Given the description of an element on the screen output the (x, y) to click on. 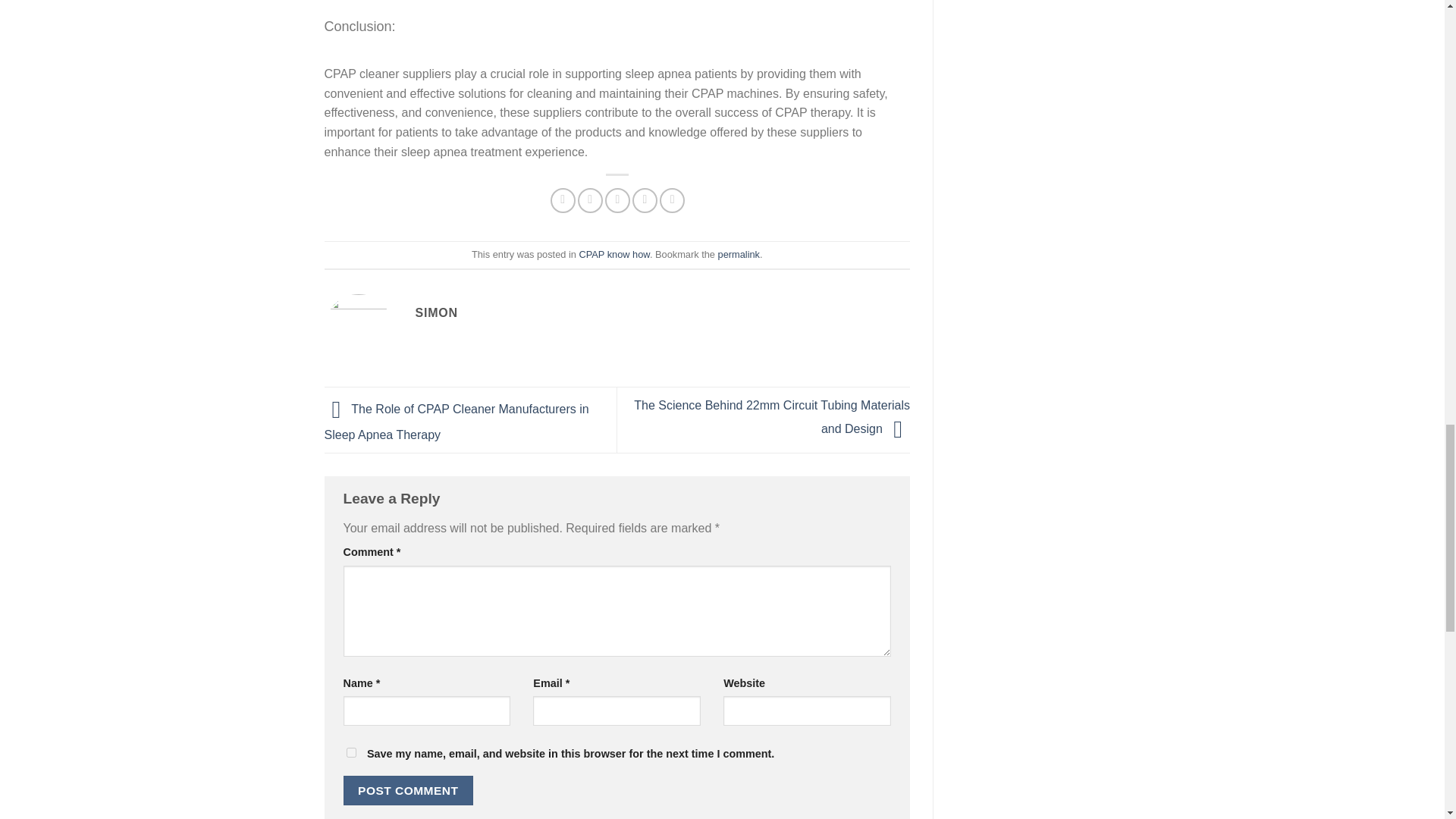
Share on LinkedIn (671, 200)
The Science Behind 22mm Circuit Tubing Materials and Design (771, 416)
Email to a Friend (617, 200)
yes (350, 752)
Share on Facebook (562, 200)
Post Comment (407, 790)
Pin on Pinterest (644, 200)
Post Comment (407, 790)
permalink (738, 254)
